Given the description of an element on the screen output the (x, y) to click on. 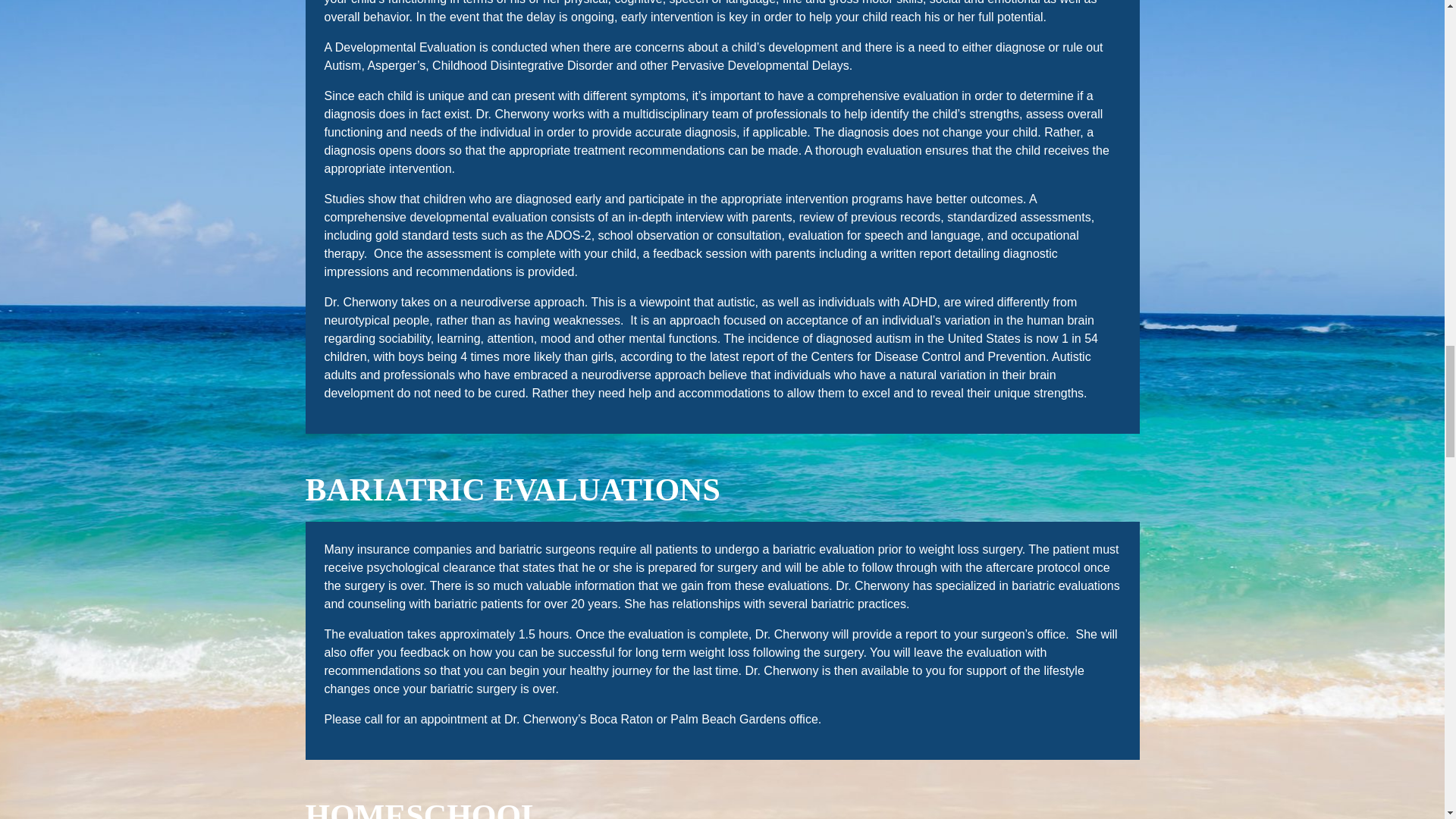
BARIATRIC EVALUATIONS (511, 489)
HOMESCHOOL (422, 808)
